Given the description of an element on the screen output the (x, y) to click on. 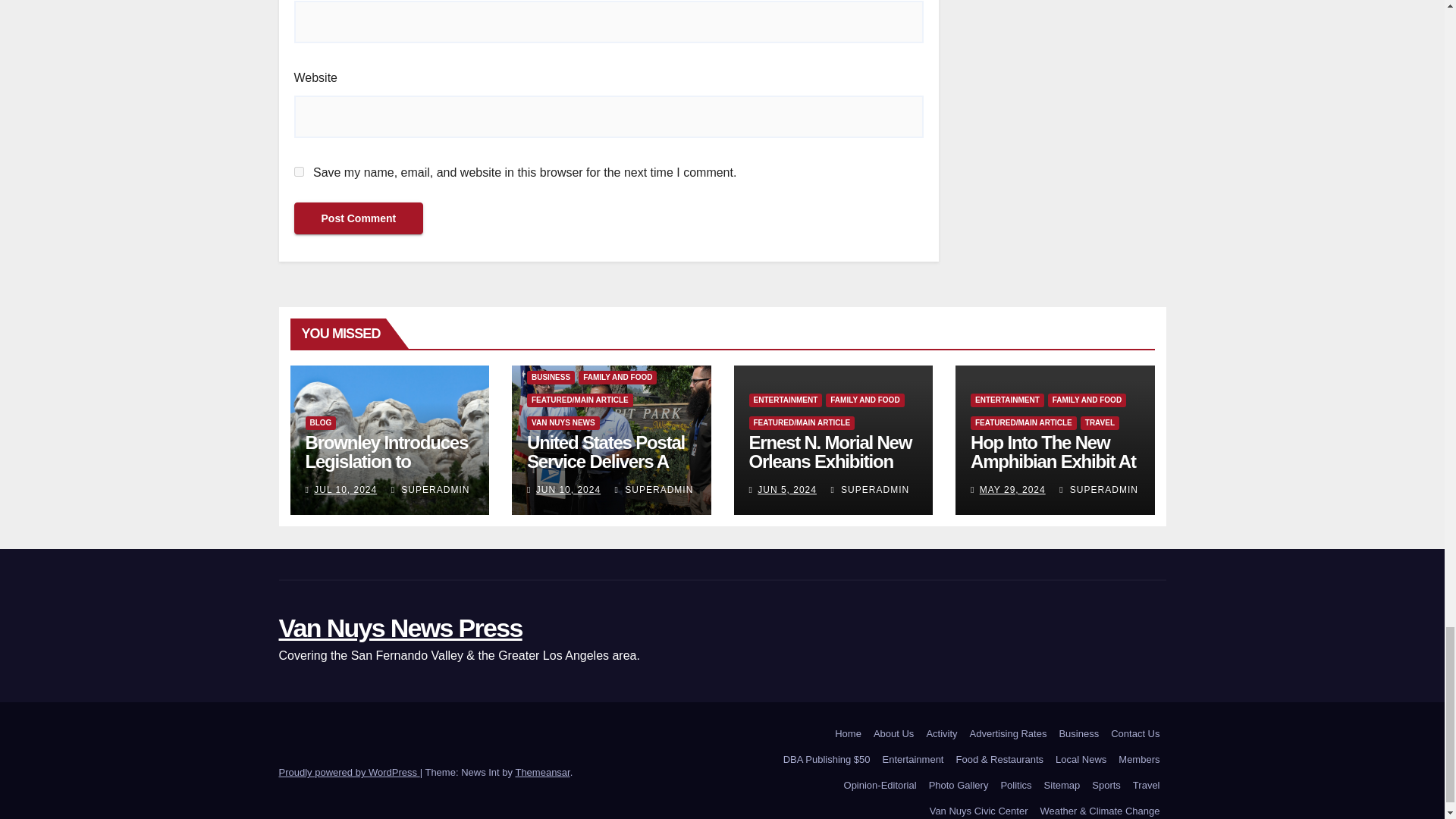
yes (299, 171)
Post Comment (358, 218)
Home (847, 733)
